Given the description of an element on the screen output the (x, y) to click on. 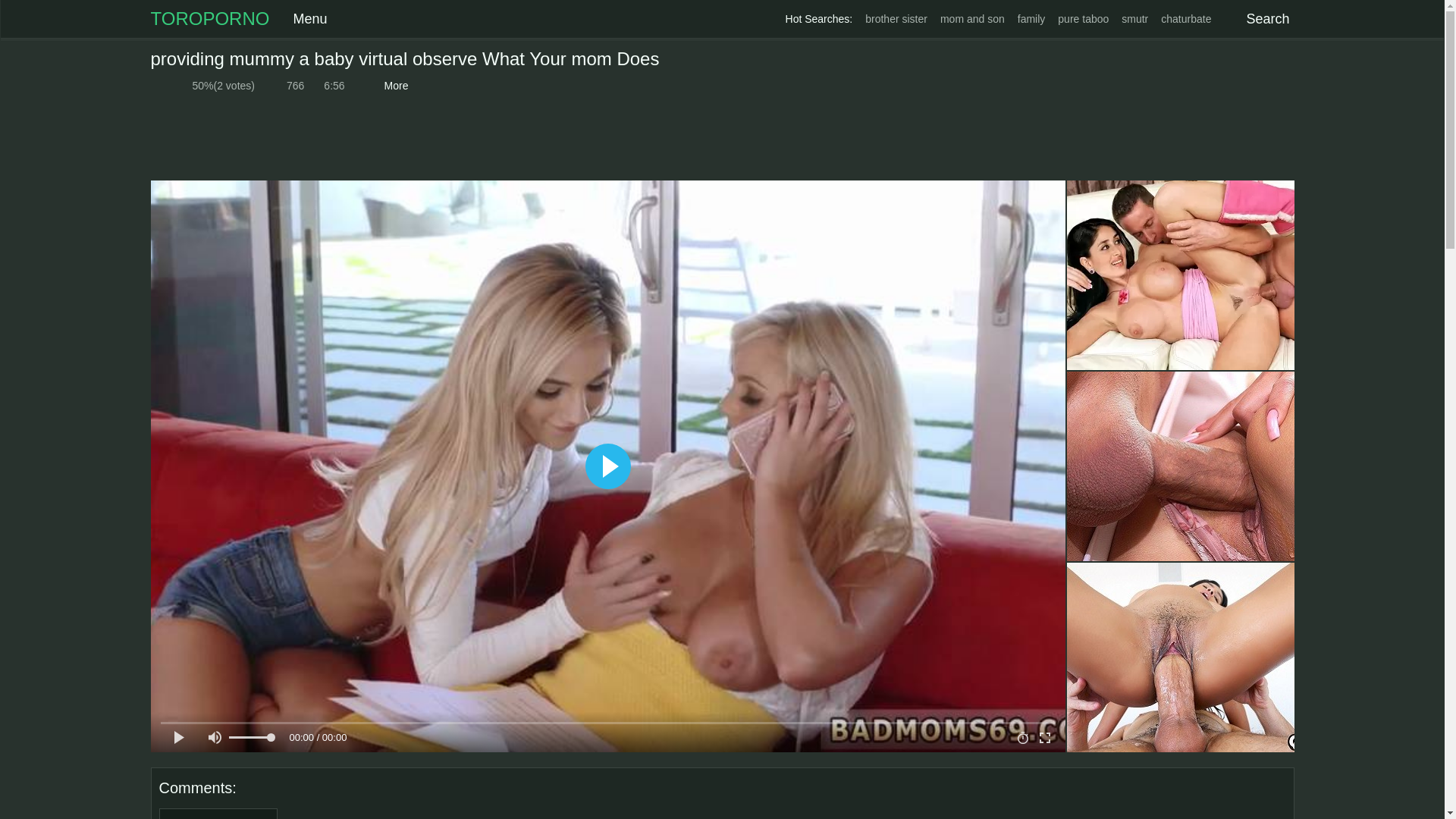
Show More (393, 85)
smutr (1134, 19)
chaturbate (1185, 19)
pure taboo (1083, 19)
TOROPORNO (209, 18)
brother sister (896, 19)
family (1031, 19)
mom and son (972, 19)
